Given the description of an element on the screen output the (x, y) to click on. 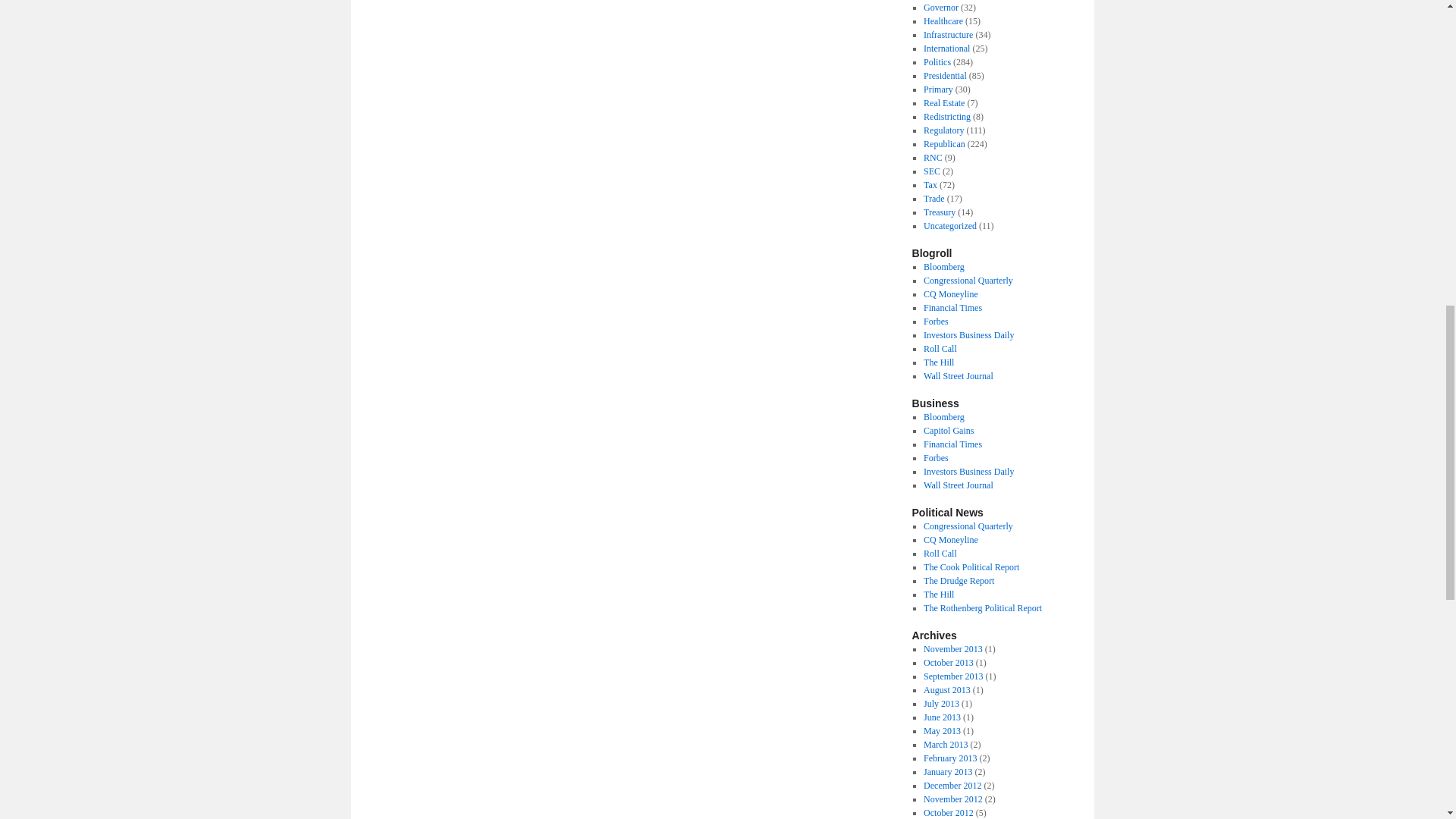
Bloomberg (943, 266)
CQ Moneyline (950, 294)
Congressional Quarterly (968, 280)
